Given the description of an element on the screen output the (x, y) to click on. 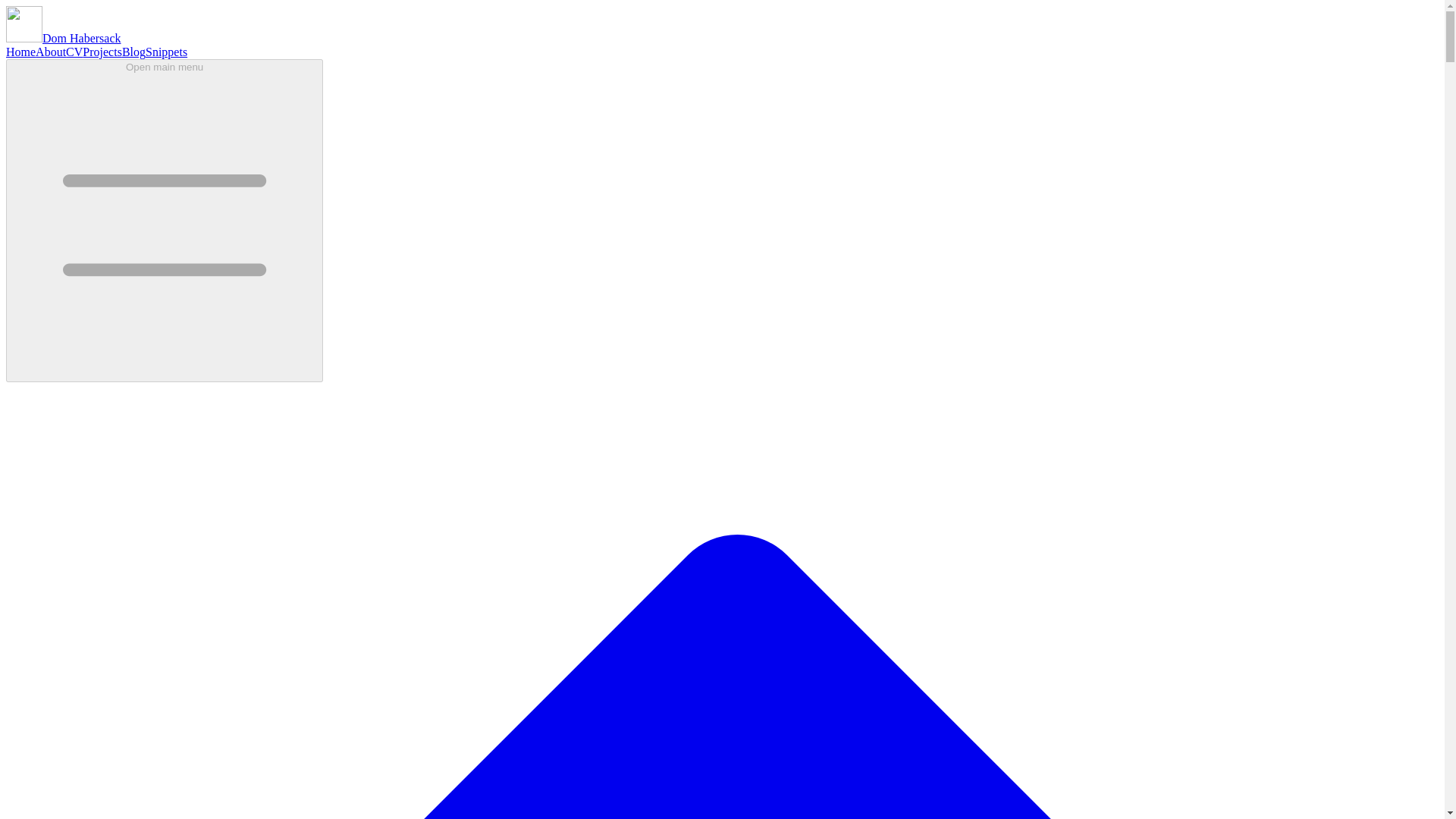
CV (73, 51)
Blog (133, 51)
Dom Habersack (62, 38)
Dom Habersack (62, 38)
Home (19, 51)
Open main menu (164, 220)
About (49, 51)
Projects (102, 51)
Snippets (166, 51)
